Given the description of an element on the screen output the (x, y) to click on. 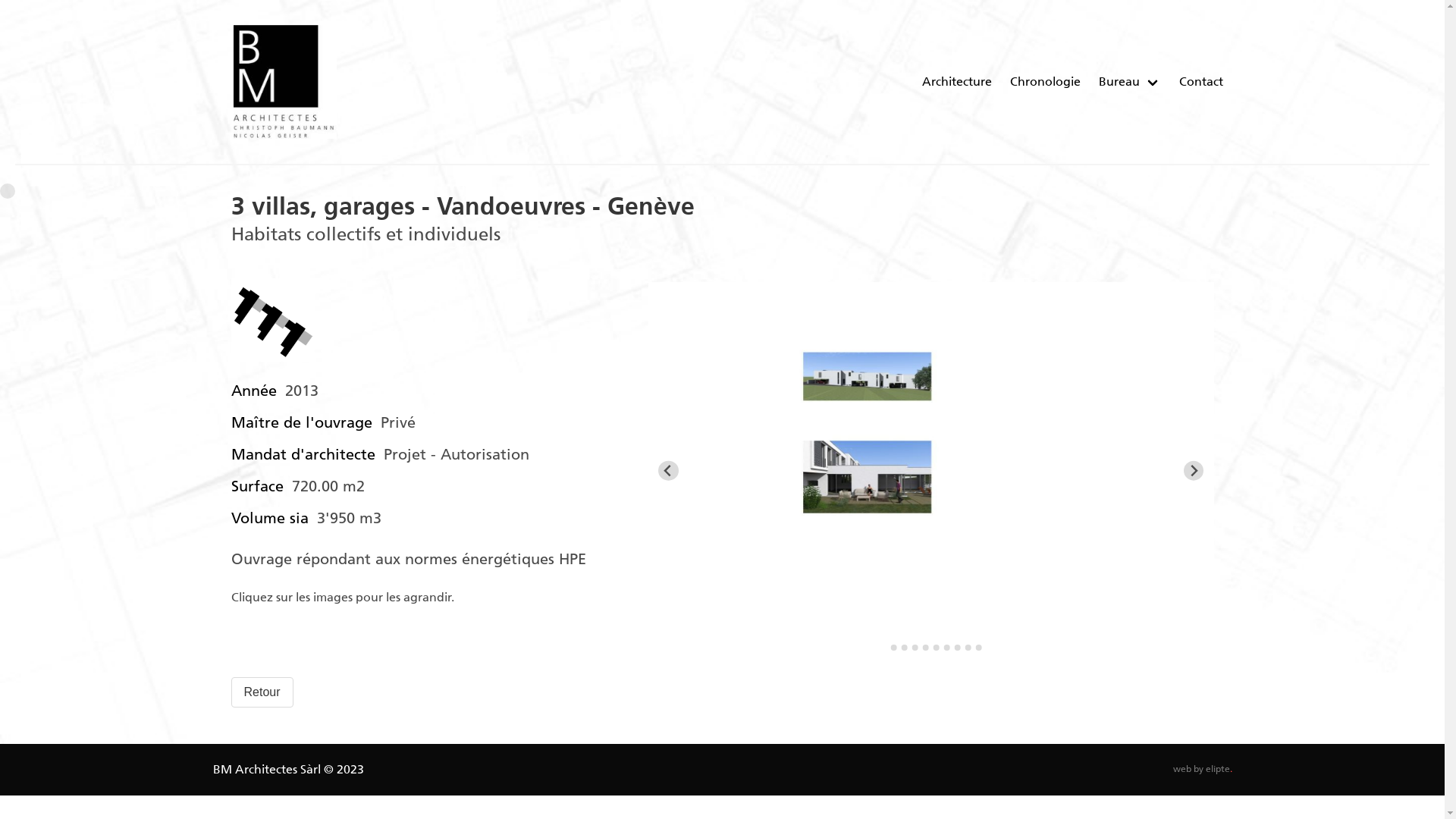
Chronologie Element type: text (1045, 81)
Bureau Element type: text (1118, 81)
elipte. Element type: text (1218, 768)
Retour Element type: text (261, 692)
Contact Element type: text (1200, 81)
Architecture Element type: text (956, 81)
